Given the description of an element on the screen output the (x, y) to click on. 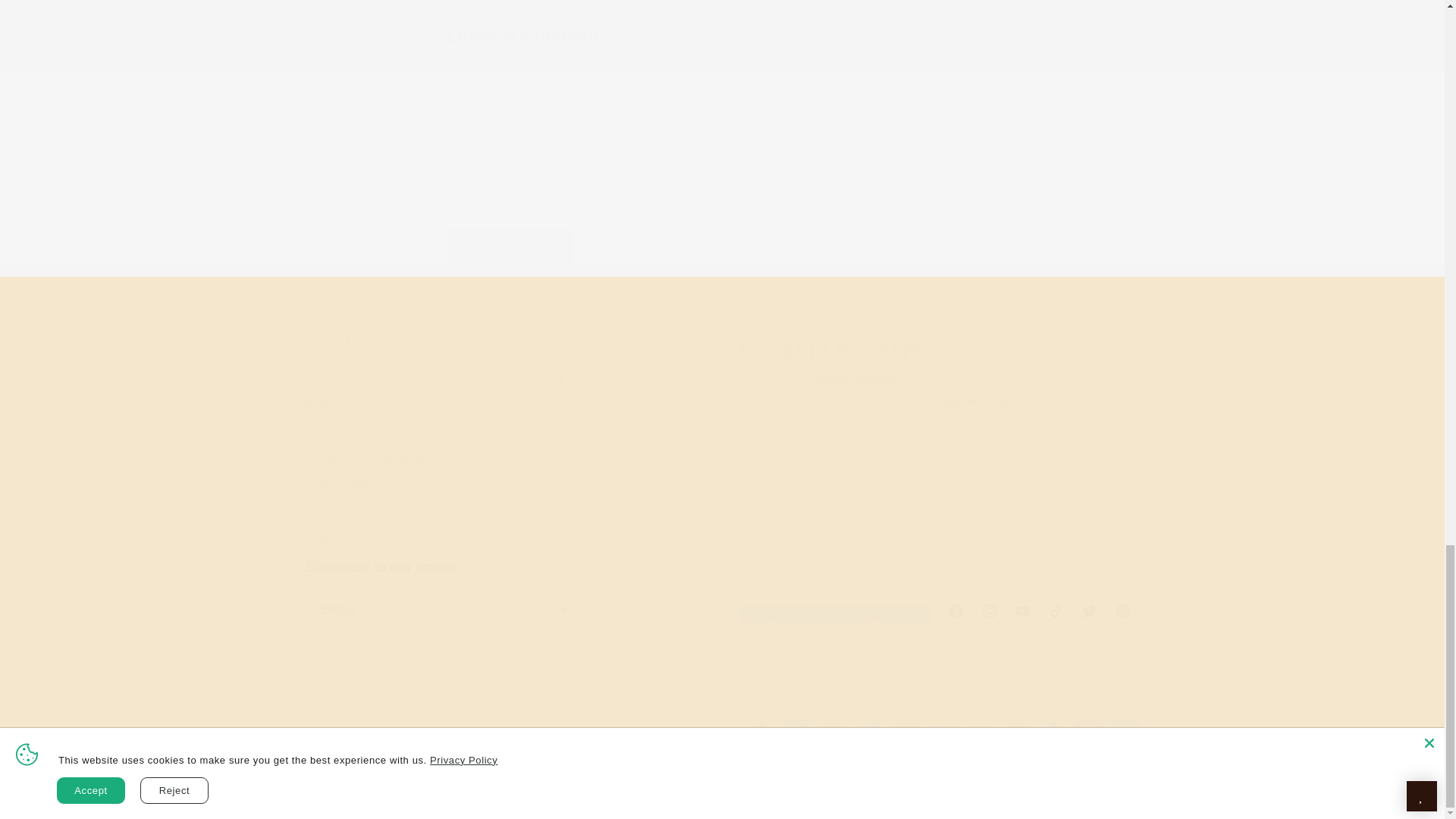
Post comment (617, 443)
